Given the description of an element on the screen output the (x, y) to click on. 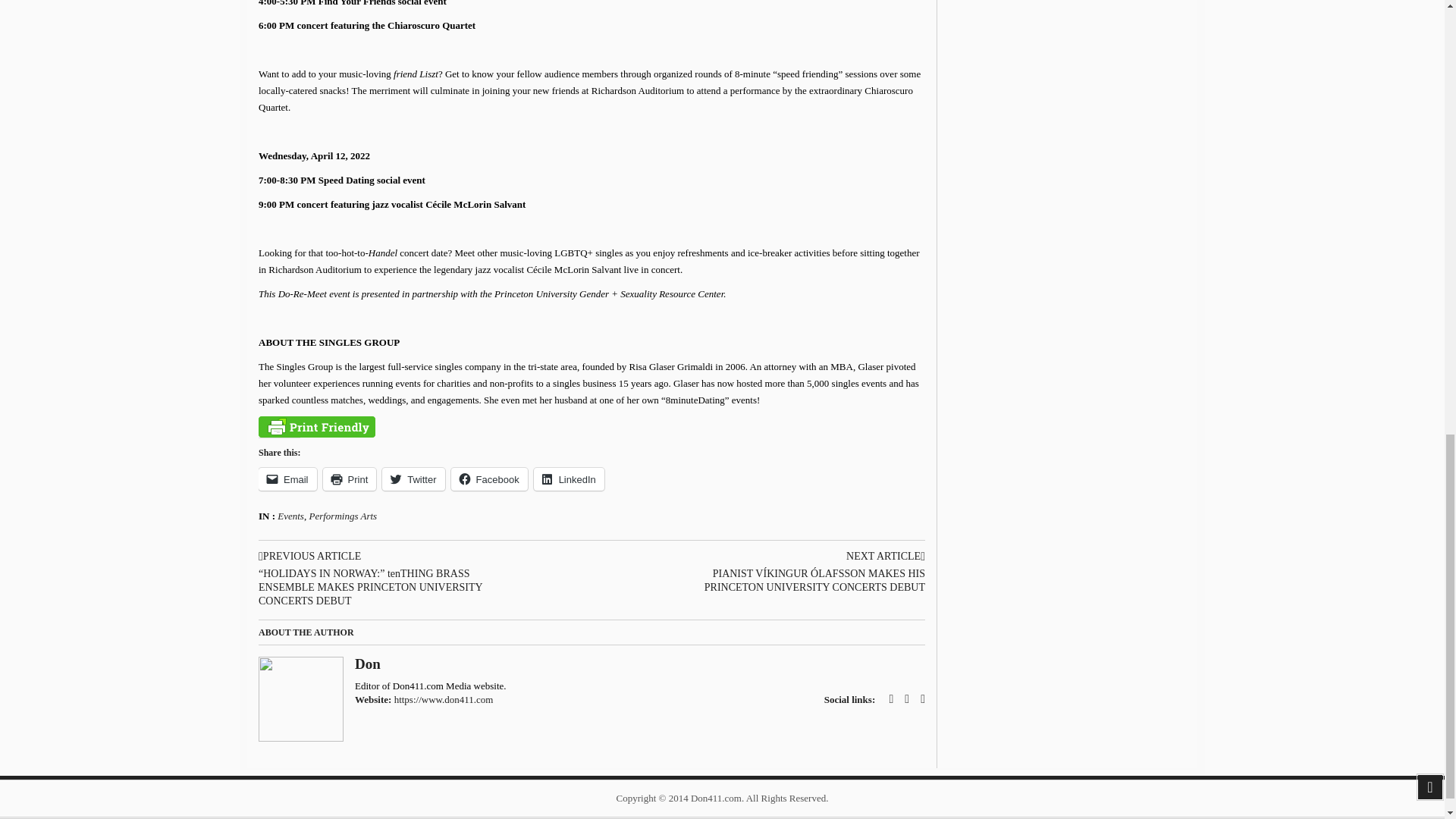
Click to email a link to a friend (288, 478)
Click to share on Twitter (412, 478)
Email (288, 478)
LinkedIn (569, 478)
NEXT ARTICLE (791, 556)
Click to share on LinkedIn (569, 478)
Twitter (412, 478)
Click to share on Facebook (489, 478)
Events (291, 515)
Performings Arts (342, 515)
